Given the description of an element on the screen output the (x, y) to click on. 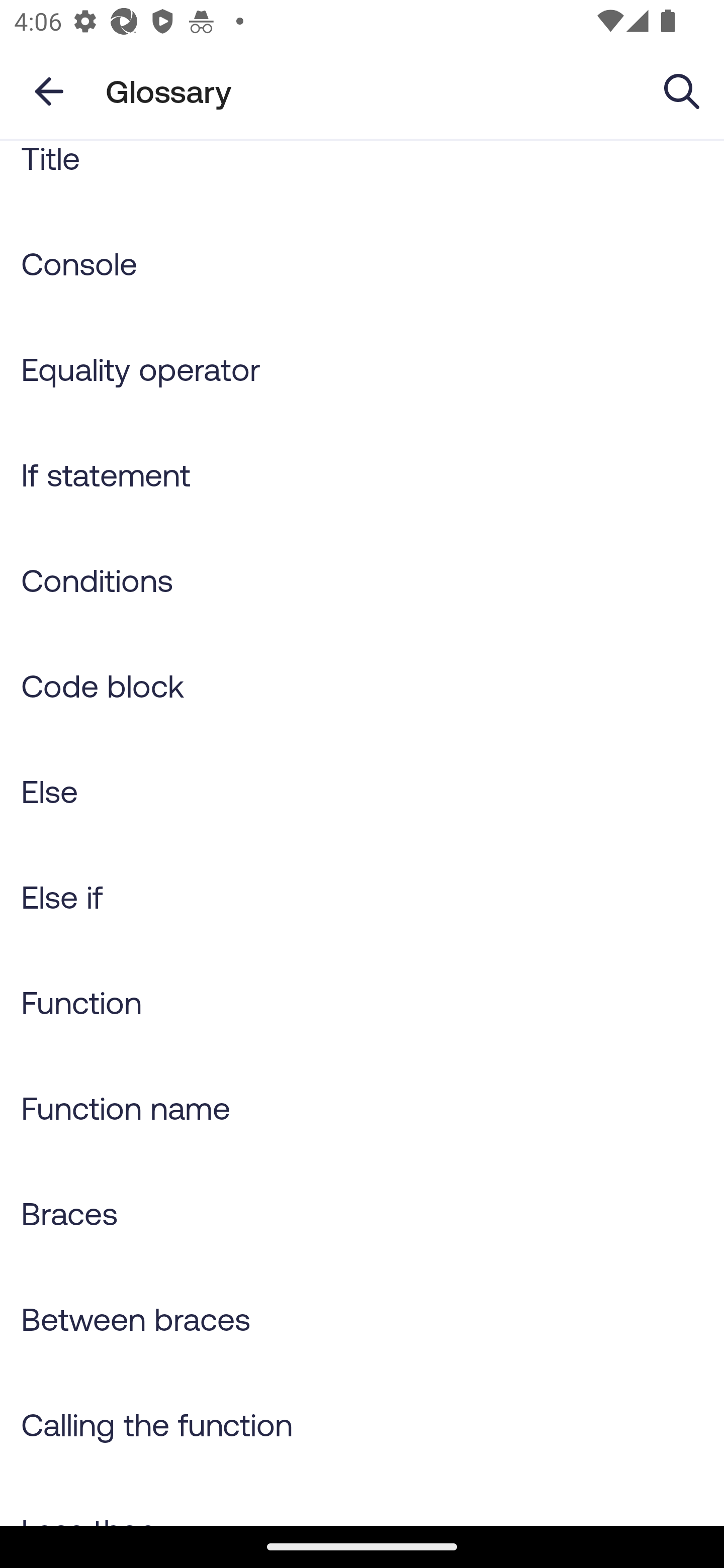
Navigate up (49, 91)
Search Glossary (681, 90)
Title (362, 175)
Console (362, 263)
Equality operator (362, 368)
If statement (362, 473)
Conditions (362, 579)
Code block  (362, 685)
Else (362, 790)
Else if (362, 895)
Function (362, 1001)
Function name (362, 1107)
Braces (362, 1212)
Between braces (362, 1318)
Calling the function (362, 1424)
